Given the description of an element on the screen output the (x, y) to click on. 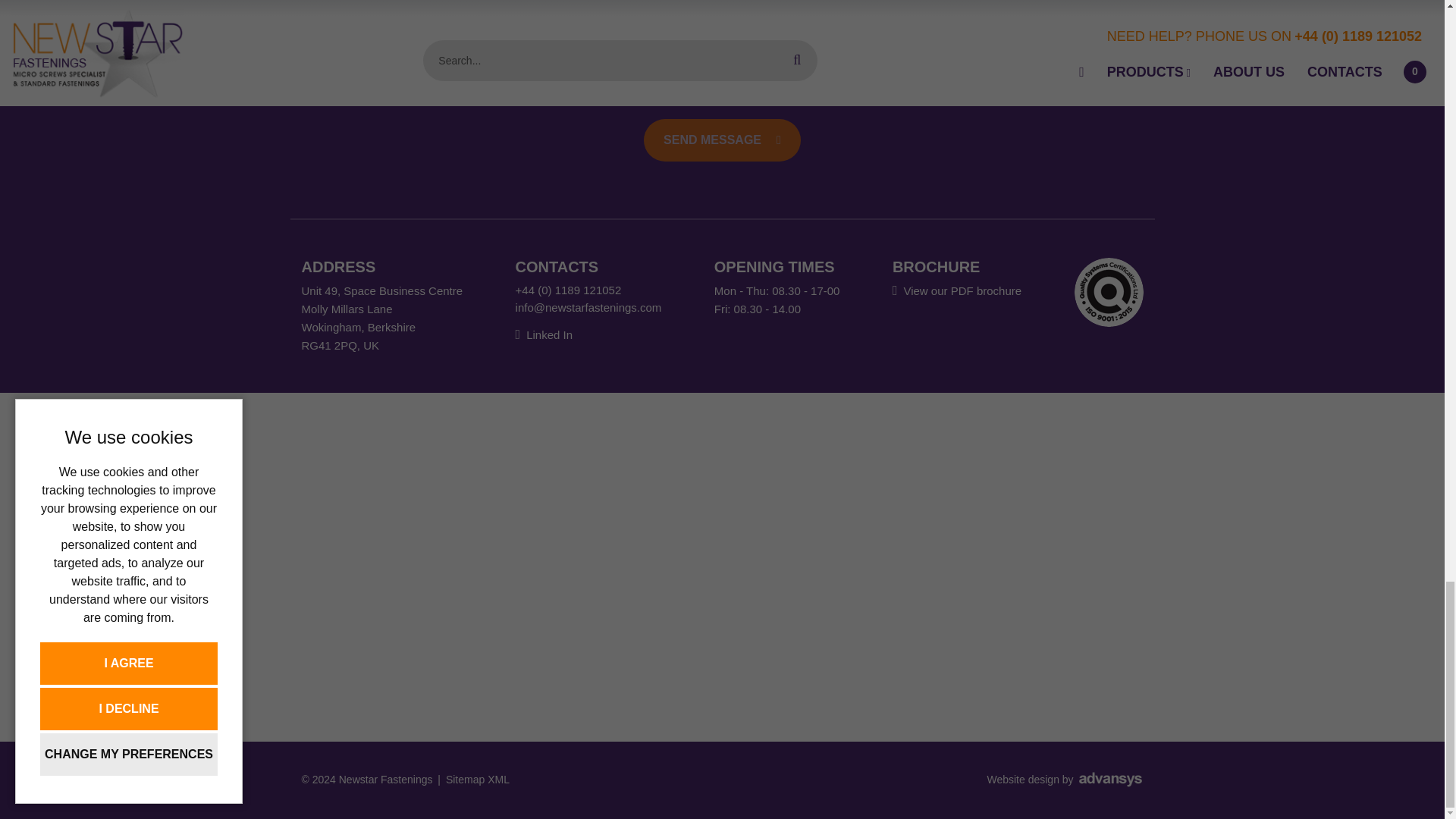
View our PDF brochure (957, 290)
Sitemap XML (477, 779)
Linked In (543, 334)
SEND MESSAGE (721, 139)
